Given the description of an element on the screen output the (x, y) to click on. 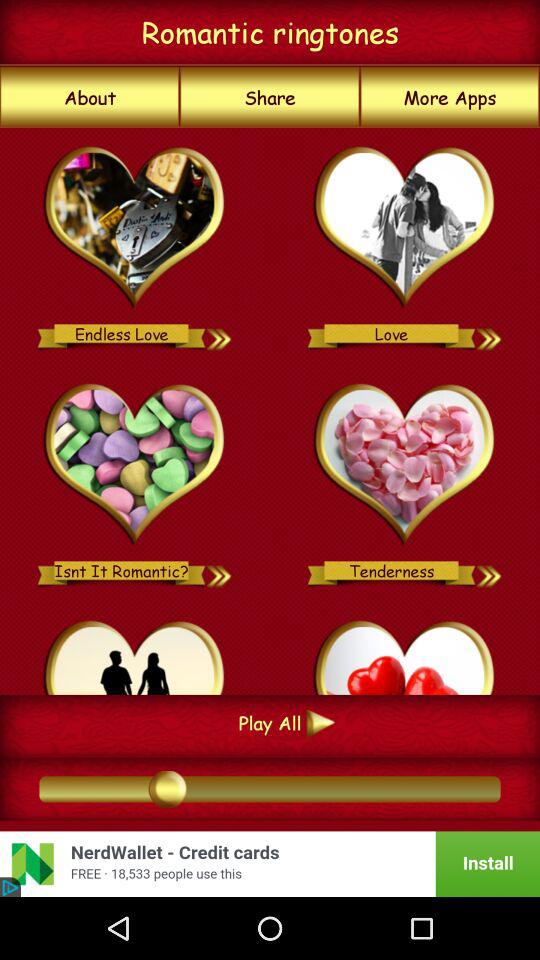
tenderness ringtone (404, 465)
